Given the description of an element on the screen output the (x, y) to click on. 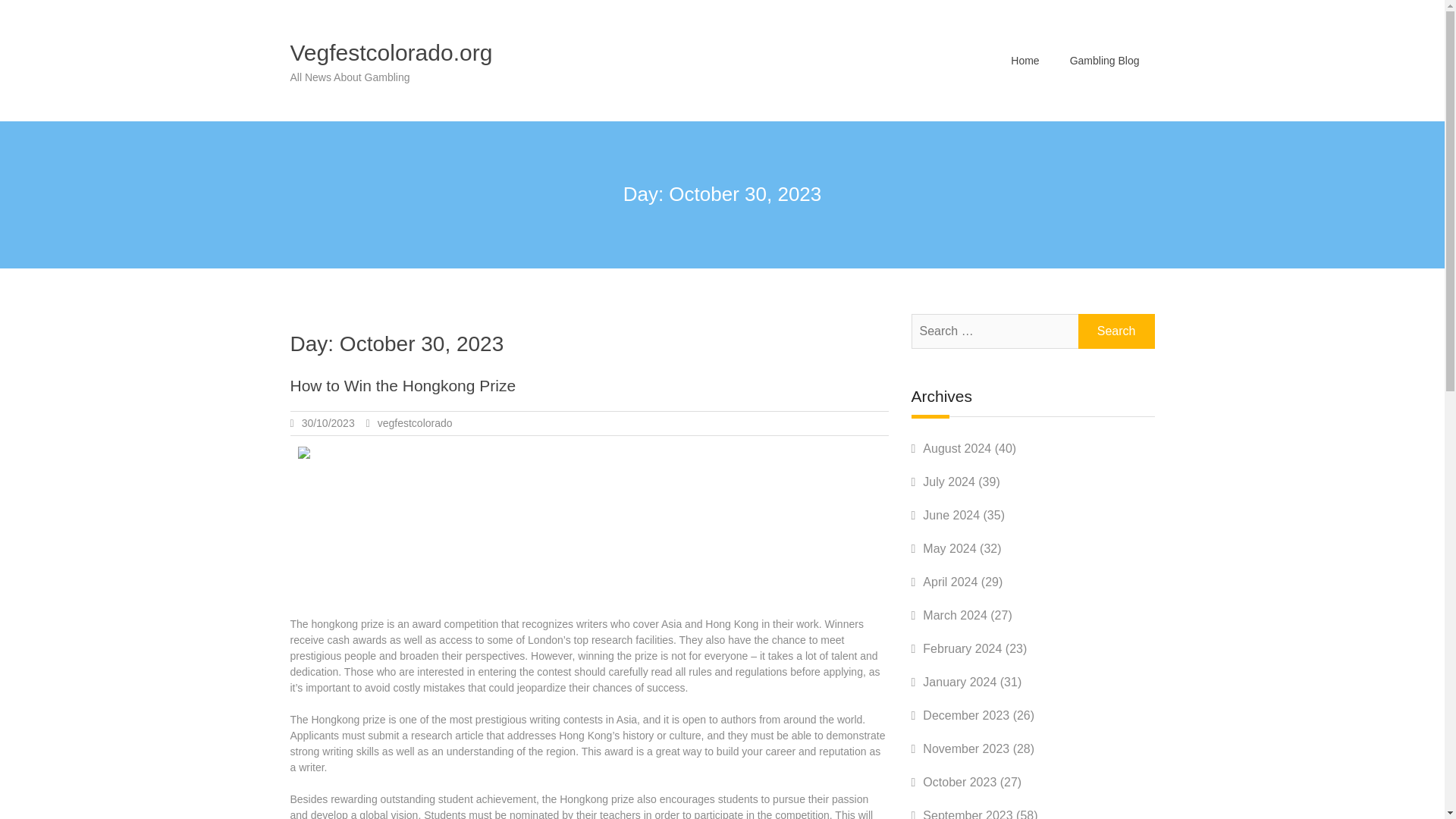
December 2023 (966, 715)
June 2024 (951, 514)
March 2024 (955, 615)
How to Win the Hongkong Prize (402, 384)
vegfestcolorado (414, 422)
January 2024 (959, 681)
August 2024 (957, 448)
May 2024 (949, 548)
October 2023 (959, 781)
November 2023 (966, 748)
